Given the description of an element on the screen output the (x, y) to click on. 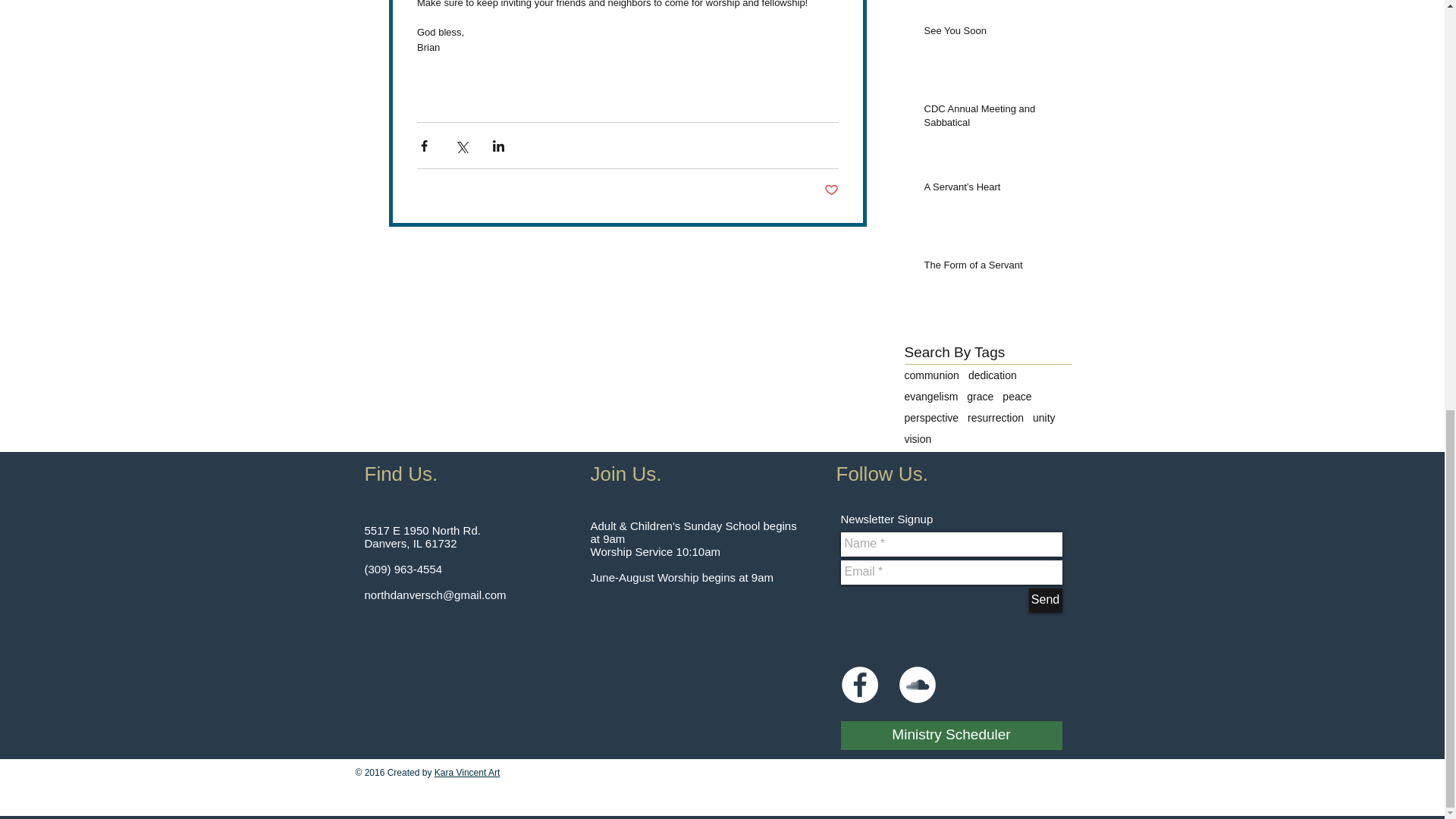
resurrection (995, 417)
See You Soon (992, 34)
dedication (992, 375)
vision (917, 439)
CDC Annual Meeting and Sabbatical (992, 118)
The Form of a Servant (992, 268)
peace (1016, 396)
evangelism (931, 396)
Kara Vincent Art (466, 772)
communion (931, 375)
